Given the description of an element on the screen output the (x, y) to click on. 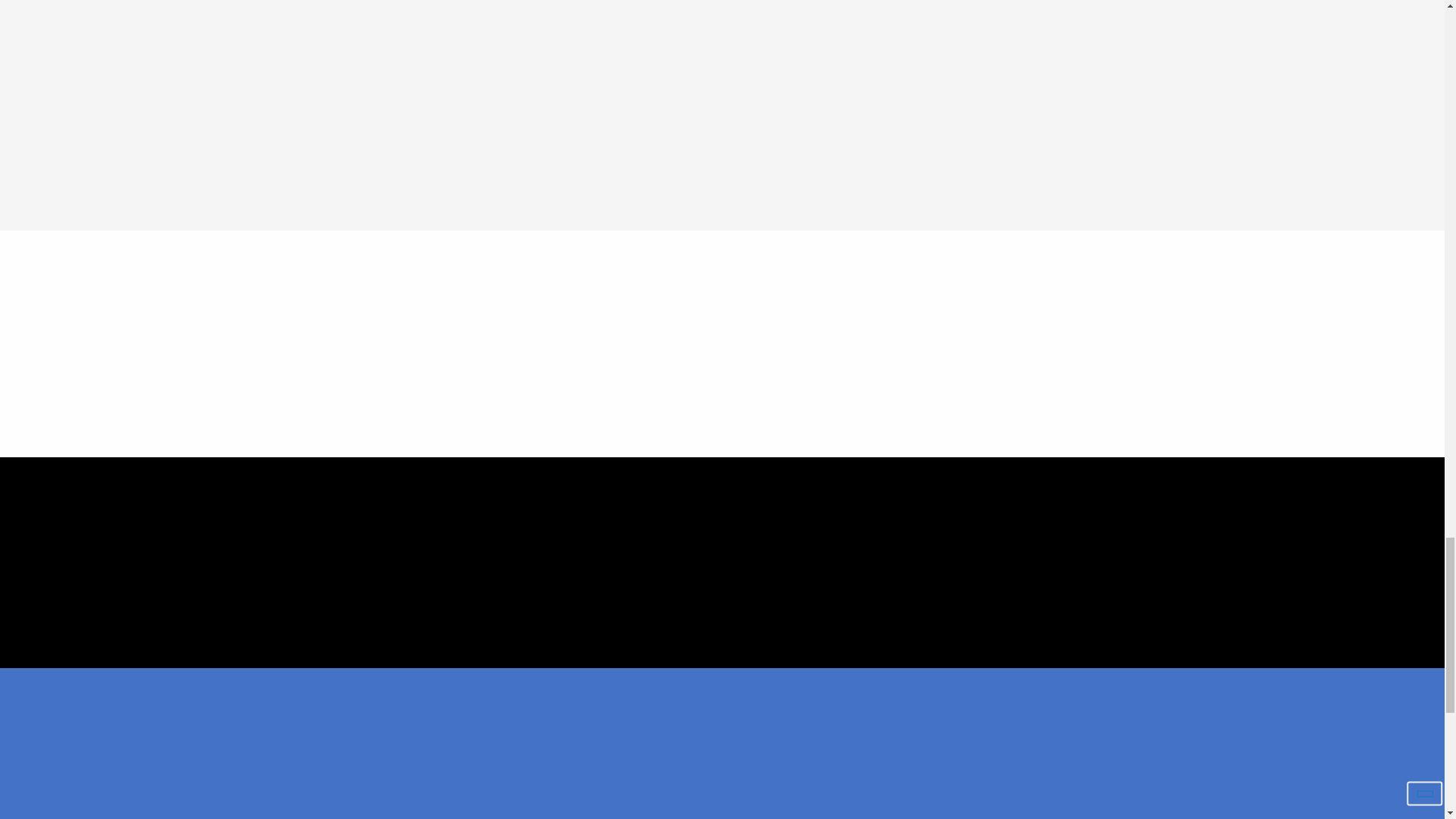
Subscribe (1109, 686)
